Given the description of an element on the screen output the (x, y) to click on. 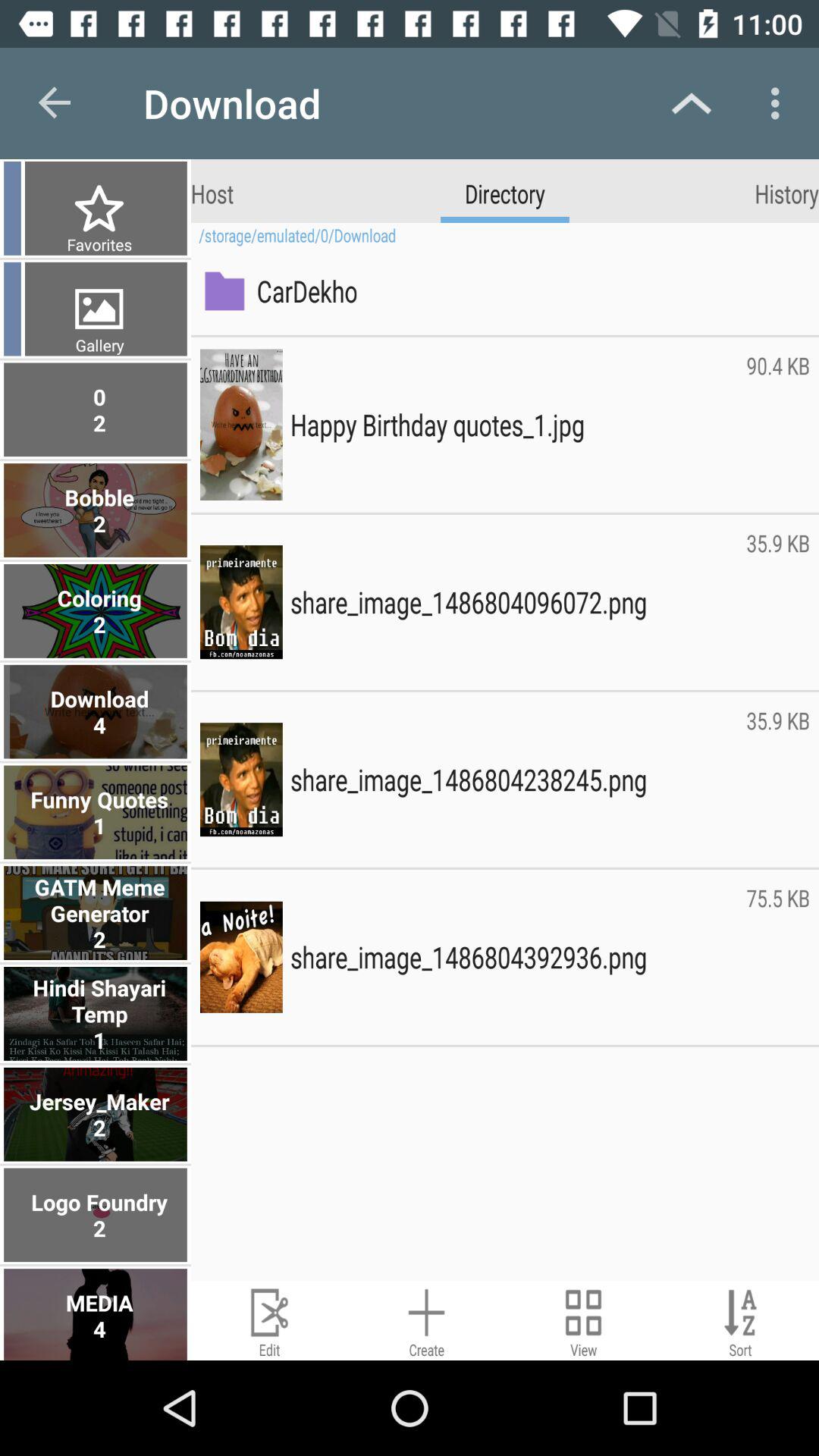
scroll until the gatm meme generator icon (97, 913)
